Given the description of an element on the screen output the (x, y) to click on. 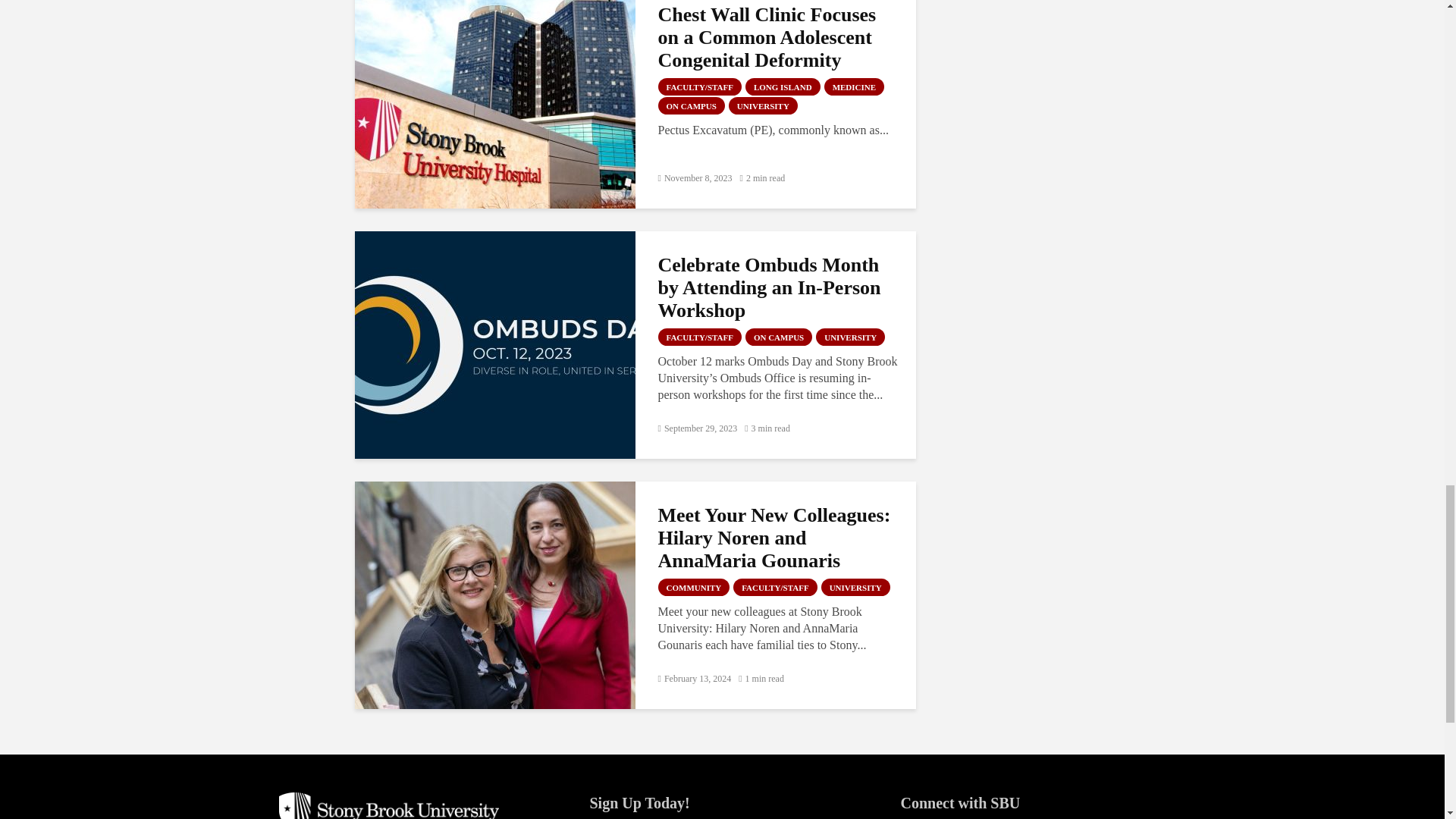
Celebrate Ombuds Month by Attending an In-Person Workshop (494, 343)
